Given the description of an element on the screen output the (x, y) to click on. 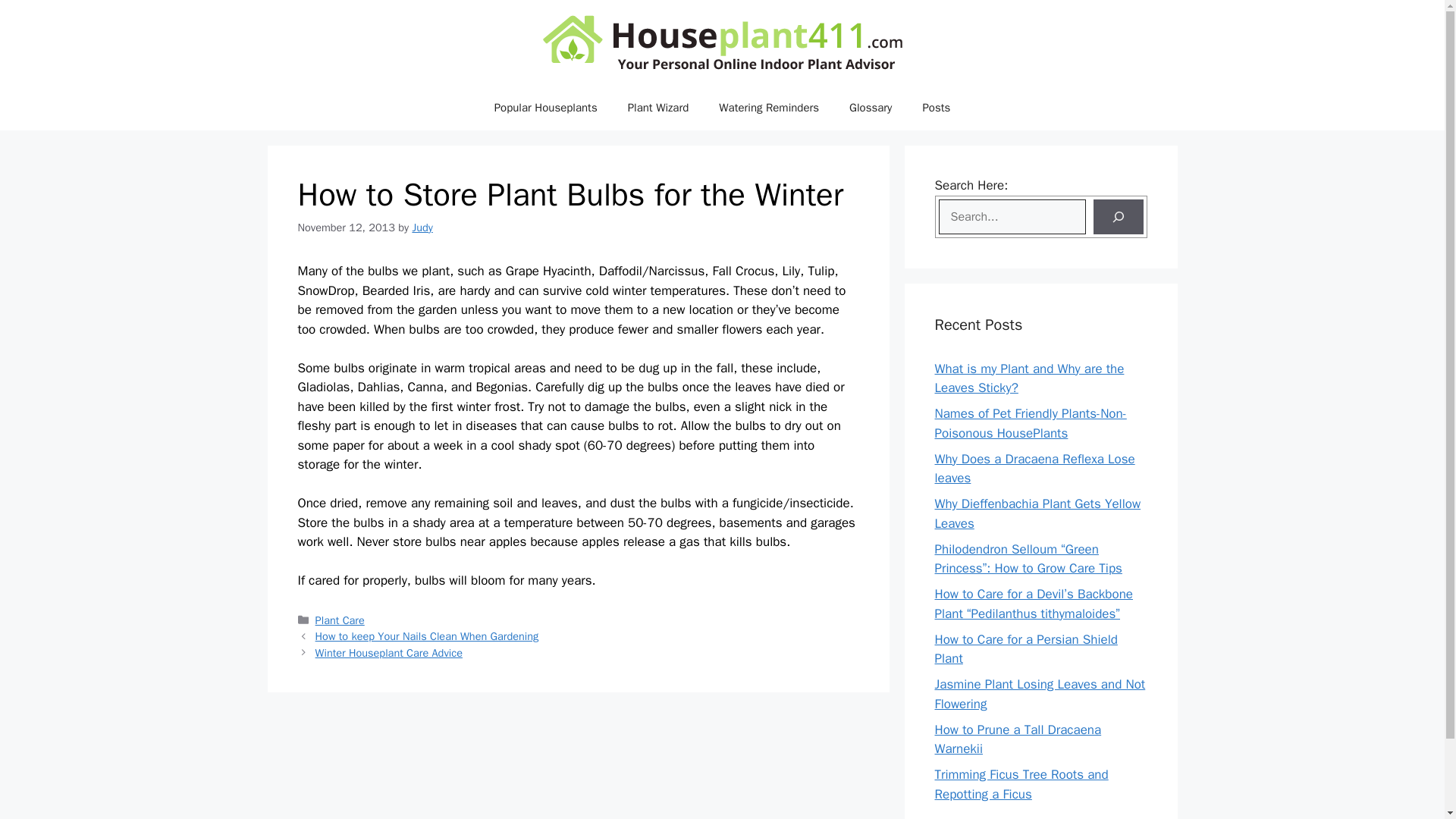
Winter Houseplant Care Advice (389, 653)
How to keep Your Nails Clean When Gardening (426, 635)
Glossary (870, 107)
Jasmine Plant Losing Leaves and Not Flowering (1039, 693)
Judy (422, 227)
Watering Reminders (768, 107)
How to Prune a Tall Dracaena Warnekii (1017, 739)
Plant Care (340, 620)
Trimming Ficus Tree Roots and Repotting a Ficus (1021, 784)
View all posts by Judy (422, 227)
